Given the description of an element on the screen output the (x, y) to click on. 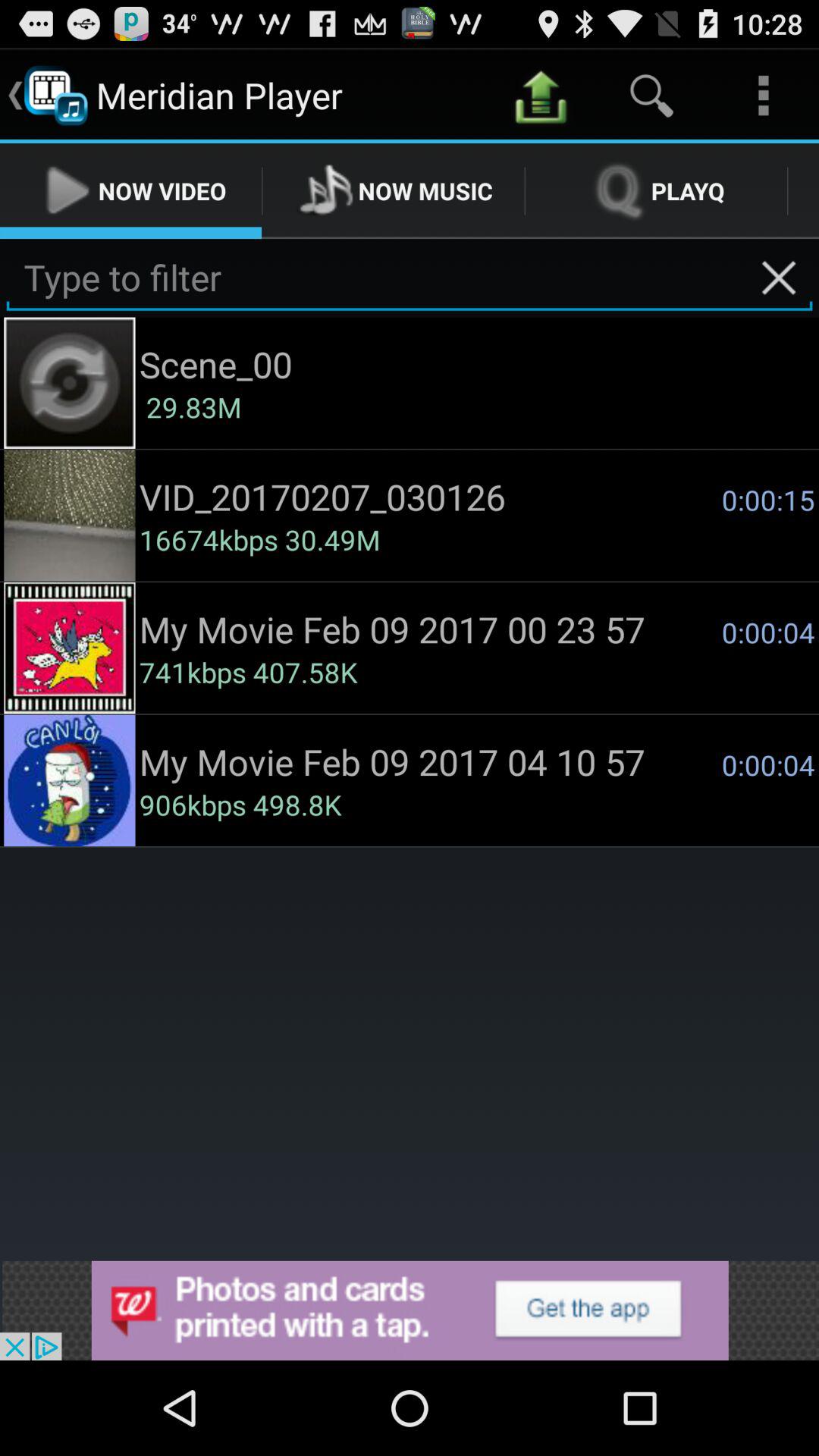
filter (409, 277)
